Given the description of an element on the screen output the (x, y) to click on. 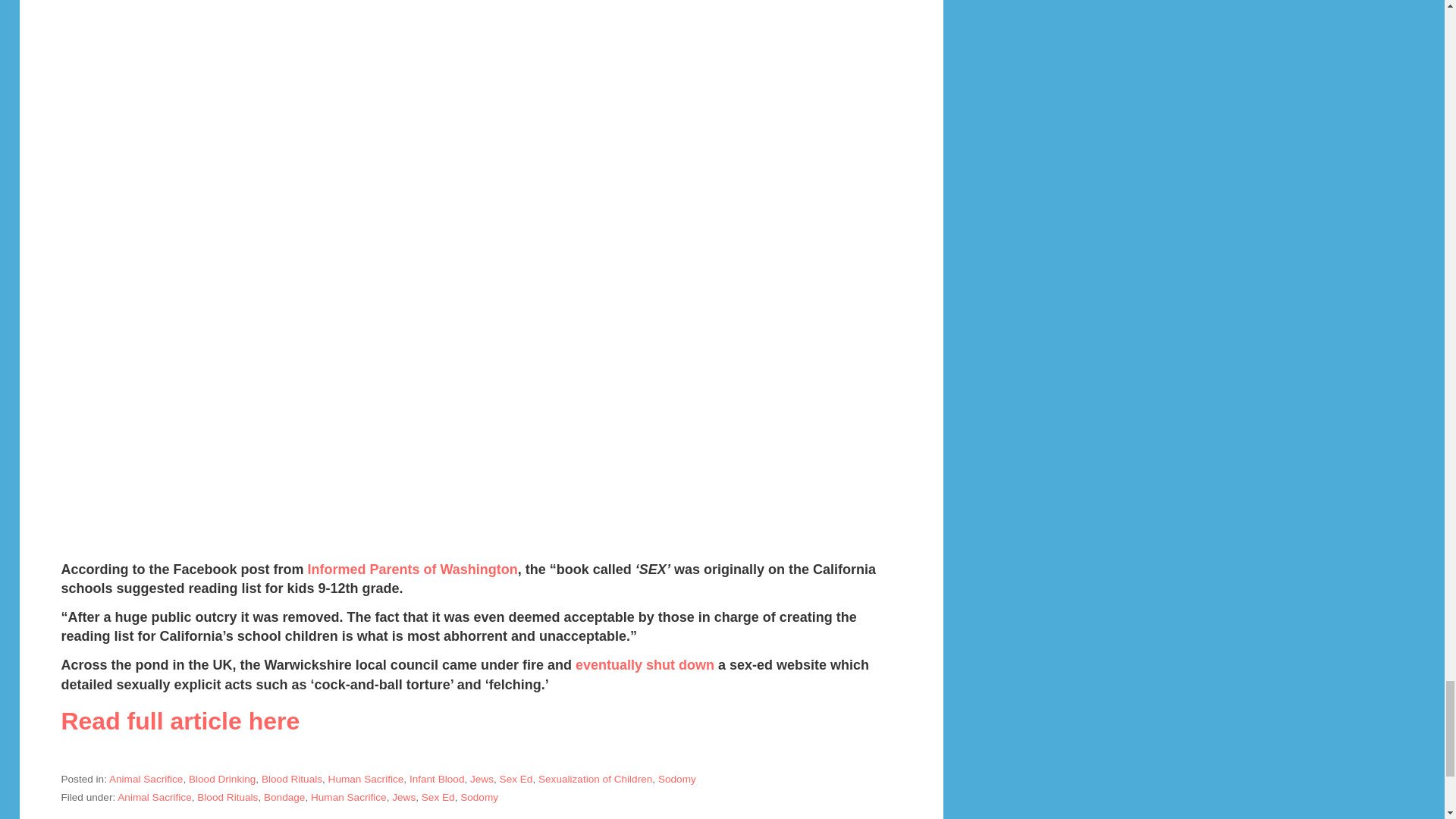
Sex Ed (438, 797)
Animal Sacrifice (146, 778)
Human Sacrifice (349, 797)
Sodomy (478, 797)
eventually shut down (644, 664)
Blood Rituals (291, 778)
Read full article here (180, 720)
Jews (402, 797)
Infant Blood (436, 778)
Bondage (283, 797)
 Informed Parents of Washington (409, 569)
Sexualization of Children (595, 778)
Jews (481, 778)
Animal Sacrifice (153, 797)
Human Sacrifice (366, 778)
